Given the description of an element on the screen output the (x, y) to click on. 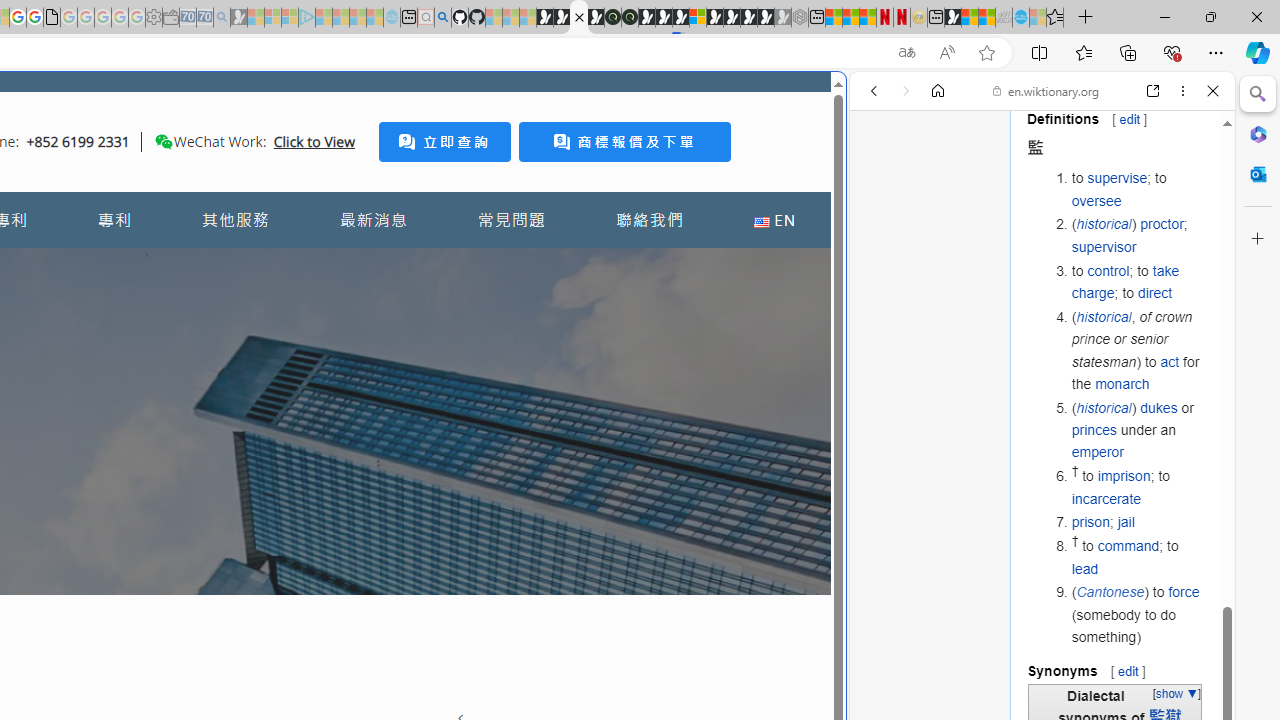
control (1108, 270)
command (1127, 546)
supervisor (1103, 246)
Wiktionary (1034, 669)
EN (774, 220)
proctor (1162, 224)
